Given the description of an element on the screen output the (x, y) to click on. 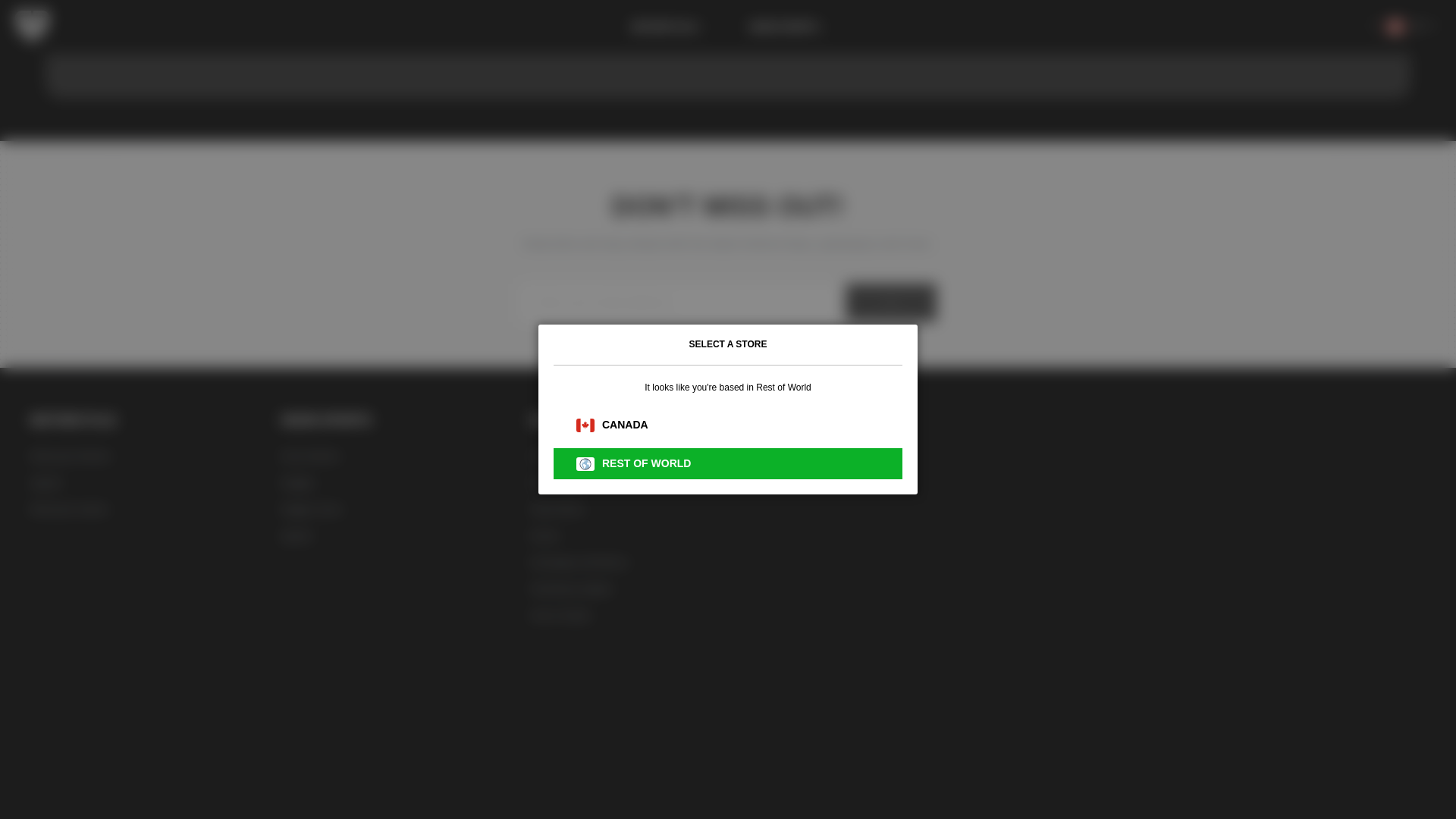
Subscribe (890, 302)
